Given the description of an element on the screen output the (x, y) to click on. 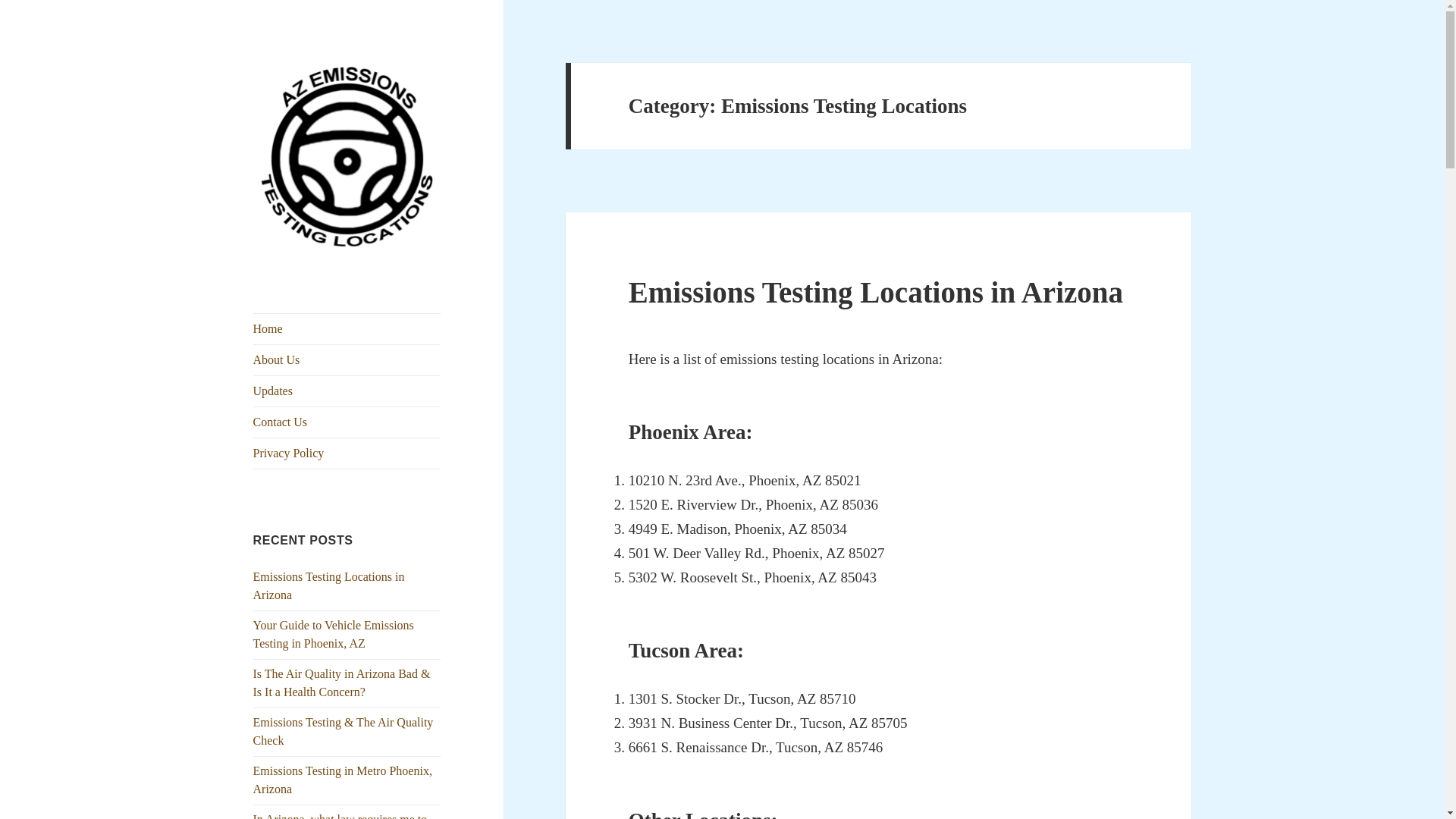
Emissions Testing AZ (342, 286)
About Us (347, 359)
Emissions Testing in Metro Phoenix, Arizona (342, 779)
Privacy Policy (347, 453)
Contact Us (347, 422)
Emissions Testing Locations in Arizona (328, 585)
Updates (347, 390)
Your Guide to Vehicle Emissions Testing in Phoenix, AZ (333, 634)
Home (347, 328)
